Given the description of an element on the screen output the (x, y) to click on. 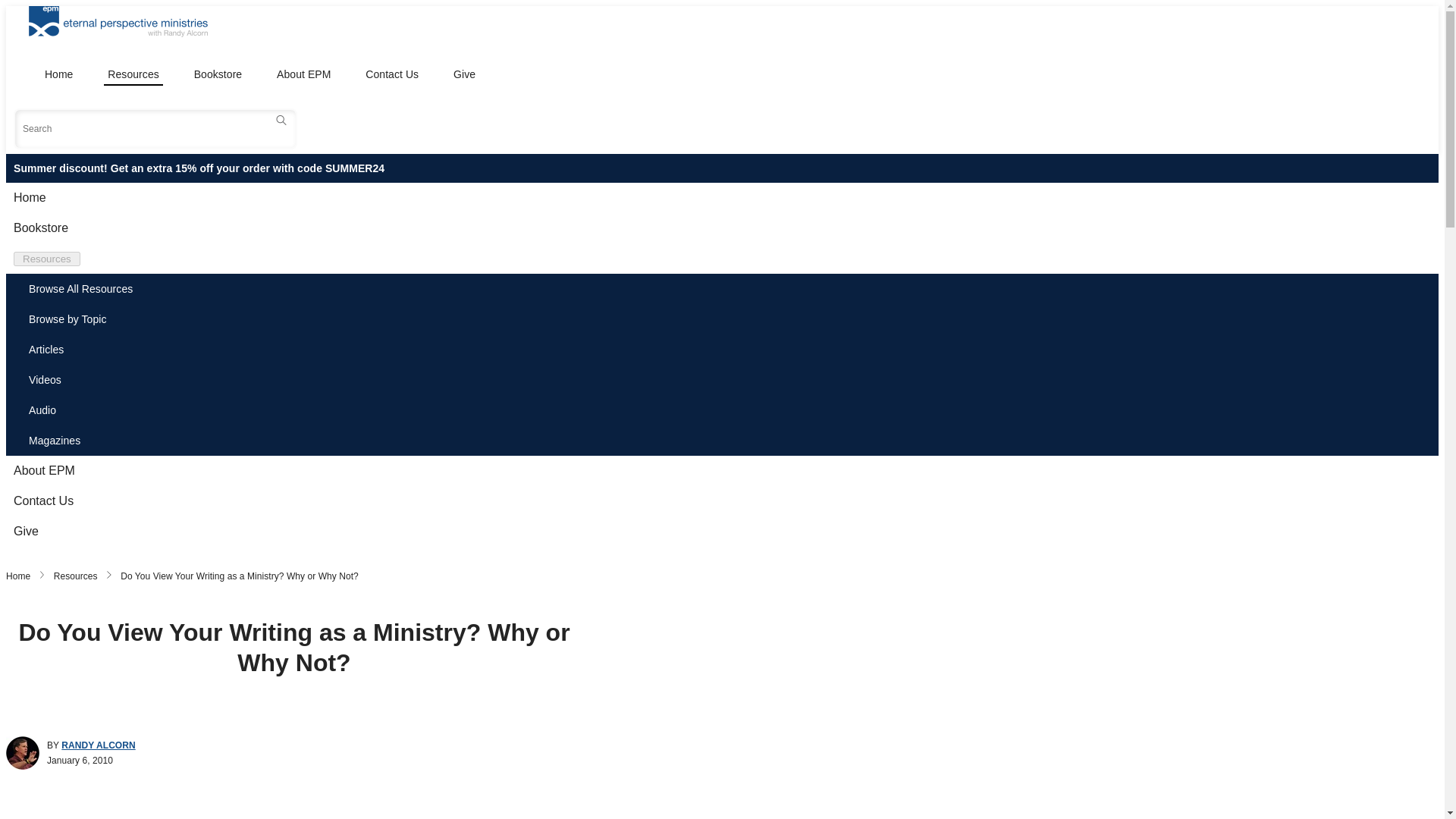
About EPM (303, 74)
Do You View Your Writing as a Ministry? Why or Why Not? (239, 575)
Contact Us (391, 74)
RANDY ALCORN (98, 745)
Resources (75, 575)
Home (17, 575)
Give (464, 74)
Home (58, 74)
Bookstore (218, 74)
Resources (132, 74)
Resources (46, 258)
